Given the description of an element on the screen output the (x, y) to click on. 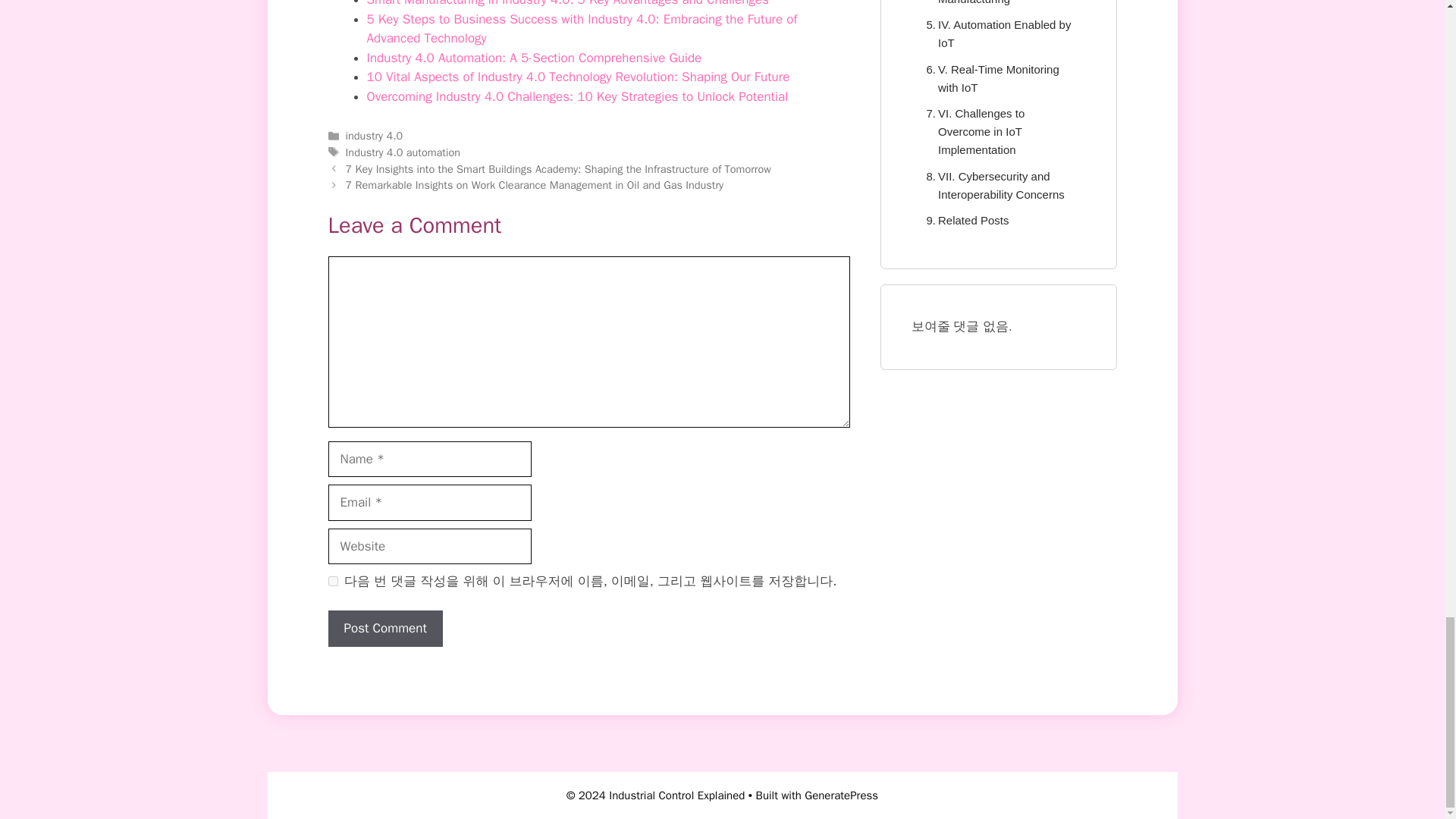
Post Comment (384, 628)
Industry 4.0 Automation: A 5-Section Comprehensive Guide (533, 57)
yes (332, 581)
industry 4.0 (374, 135)
Industry 4.0 automation (403, 151)
IV. Automation Enabled by IoT (998, 33)
Post Comment (384, 628)
